Given the description of an element on the screen output the (x, y) to click on. 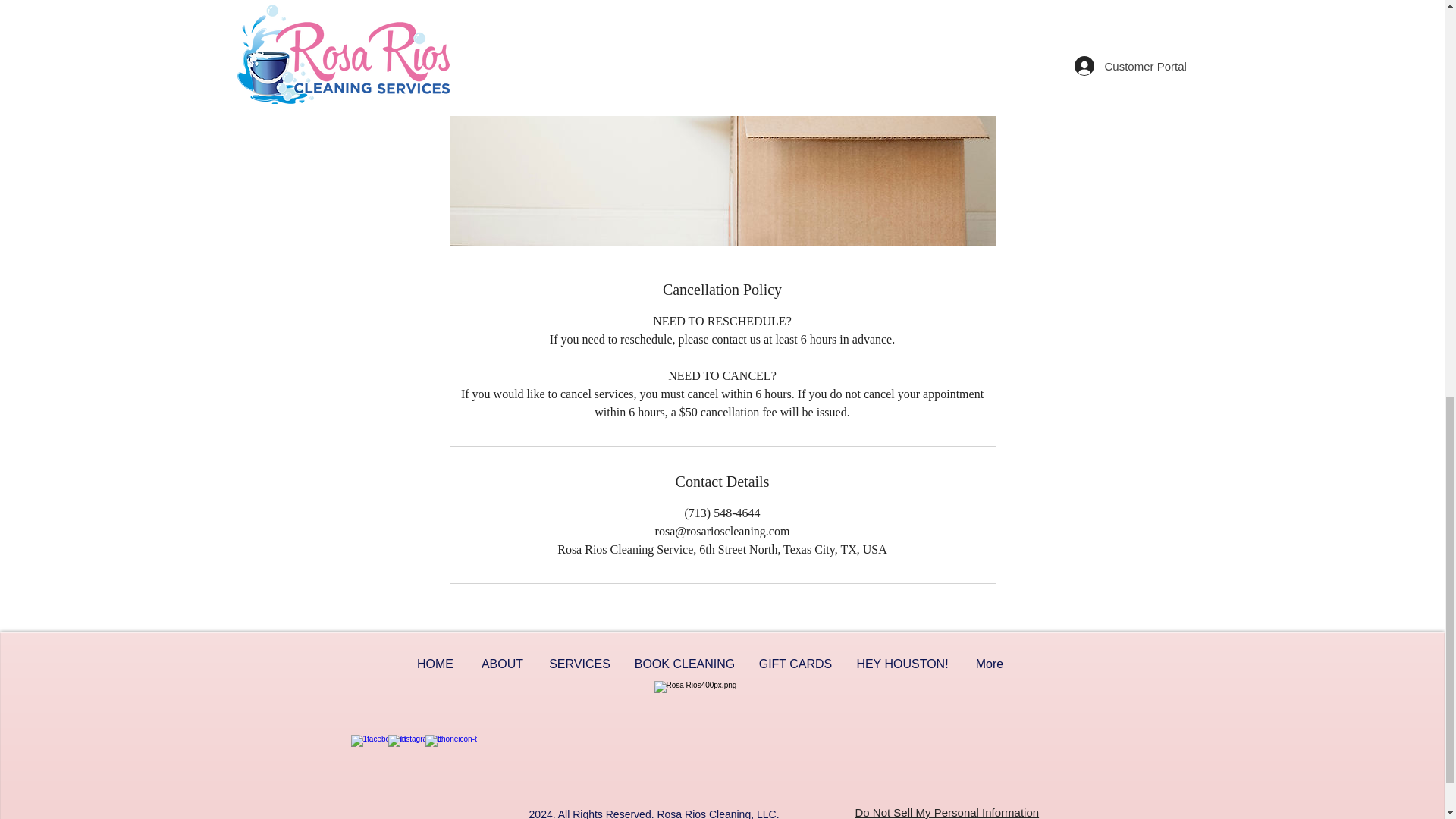
BOOK CLEANING (683, 664)
HEY HOUSTON! (901, 664)
ABOUT (502, 664)
Do Not Sell My Personal Information (947, 811)
SERVICES (579, 664)
HOME (435, 664)
GIFT CARDS (796, 664)
